Given the description of an element on the screen output the (x, y) to click on. 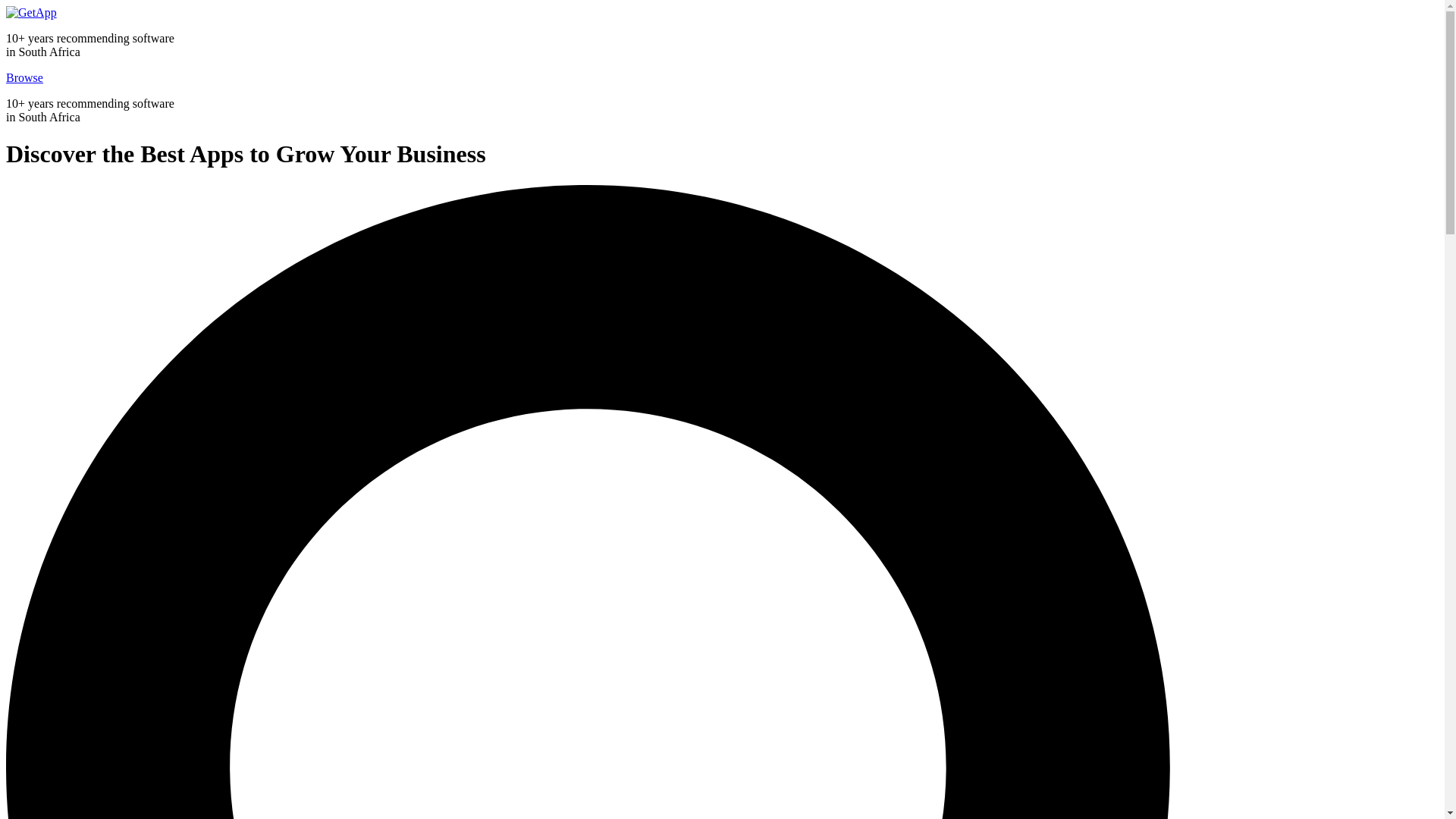
GetApp (30, 11)
Browse (24, 77)
